Given the description of an element on the screen output the (x, y) to click on. 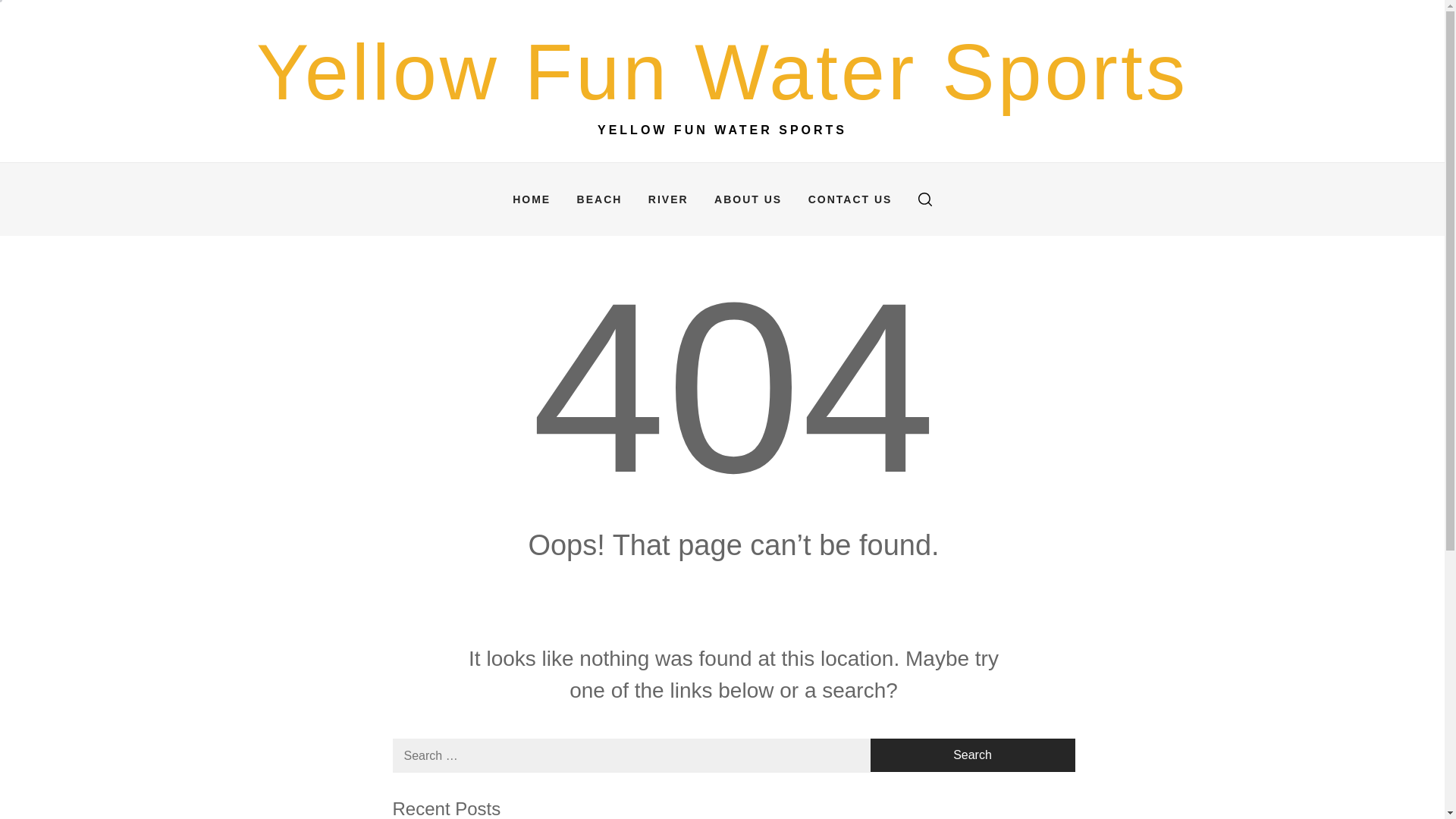
Yellow Fun Water Sports (722, 71)
Search (972, 755)
Search (972, 755)
BEACH (599, 198)
Search (972, 755)
Search (797, 409)
ABOUT US (748, 198)
CONTACT US (850, 198)
